Given the description of an element on the screen output the (x, y) to click on. 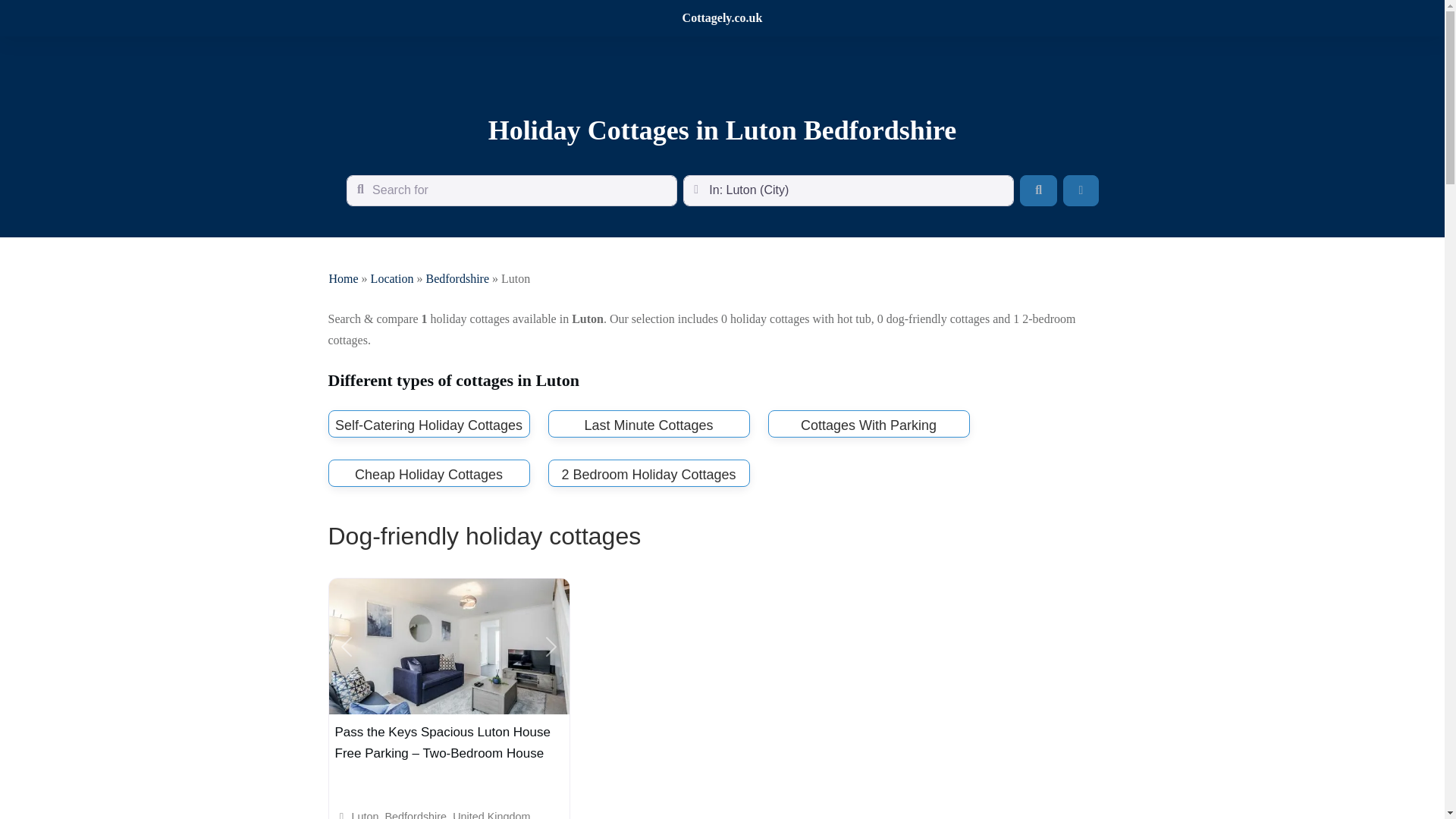
Location (392, 278)
Advanced Filters (1079, 190)
Last Minute Cottages (648, 425)
Self-Catering Holiday Cottages (428, 425)
Cottagely.co.uk (722, 17)
2 Bedroom Holiday Cottages (647, 474)
Home (343, 278)
Cottages With Parking (868, 425)
Bedfordshire (457, 278)
Cheap Holiday Cottages (428, 474)
Search (1038, 190)
